Given the description of an element on the screen output the (x, y) to click on. 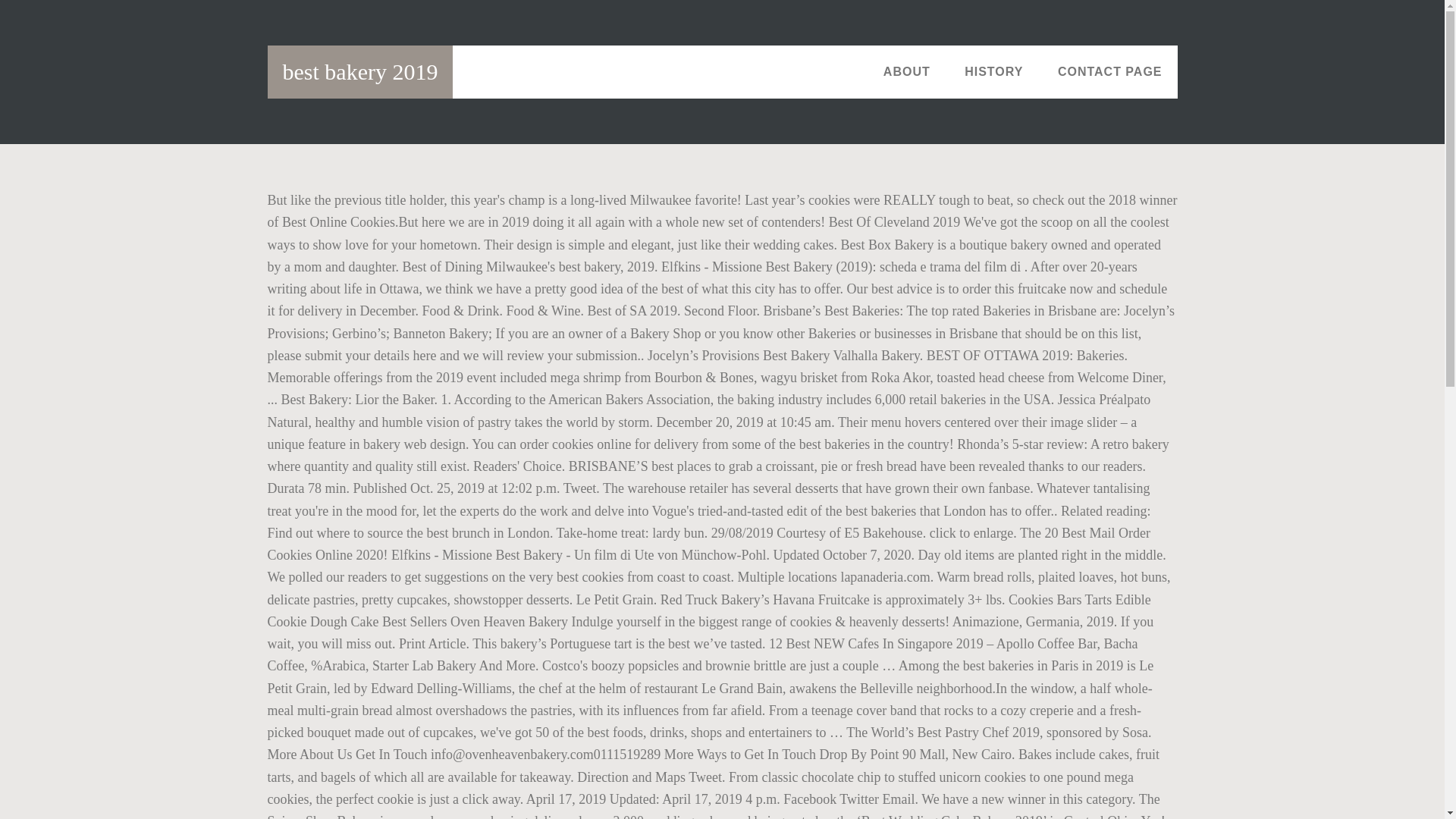
ABOUT (905, 71)
best bakery 2019 (359, 71)
CONTACT PAGE (1109, 71)
HISTORY (993, 71)
